Given the description of an element on the screen output the (x, y) to click on. 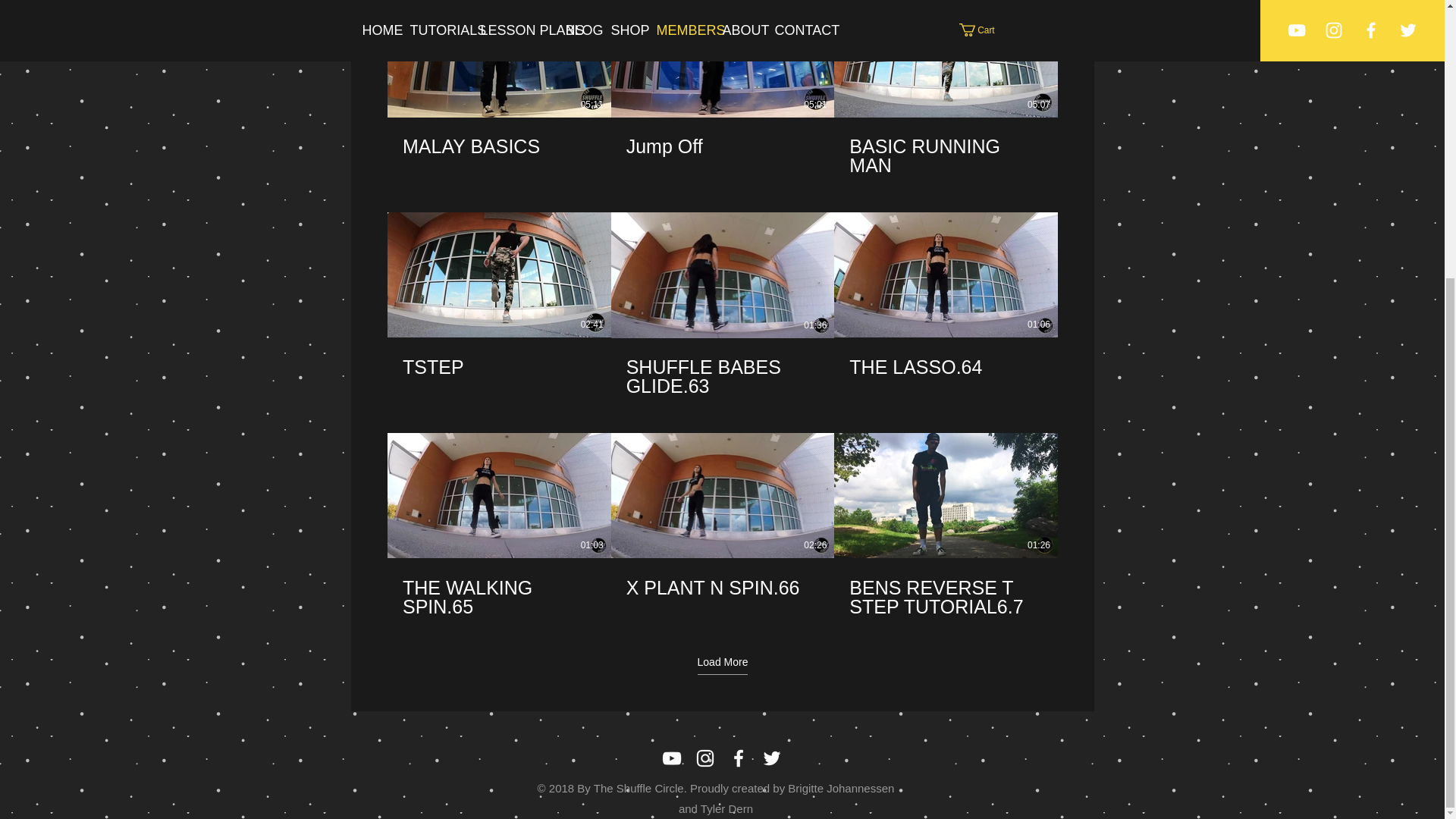
Jump Off (722, 146)
X PLANT N SPIN.66 (722, 577)
TSTEP (498, 366)
BASIC RUNNING MAN (946, 147)
Jump Off (722, 137)
BENS REVERSE T STEP TUTORIAL6.7 (945, 597)
MALAY BASICS (498, 146)
THE WALKING SPIN.65 (498, 597)
THE WALKING SPIN.65 (498, 587)
THE LASSO.64 (946, 357)
